Given the description of an element on the screen output the (x, y) to click on. 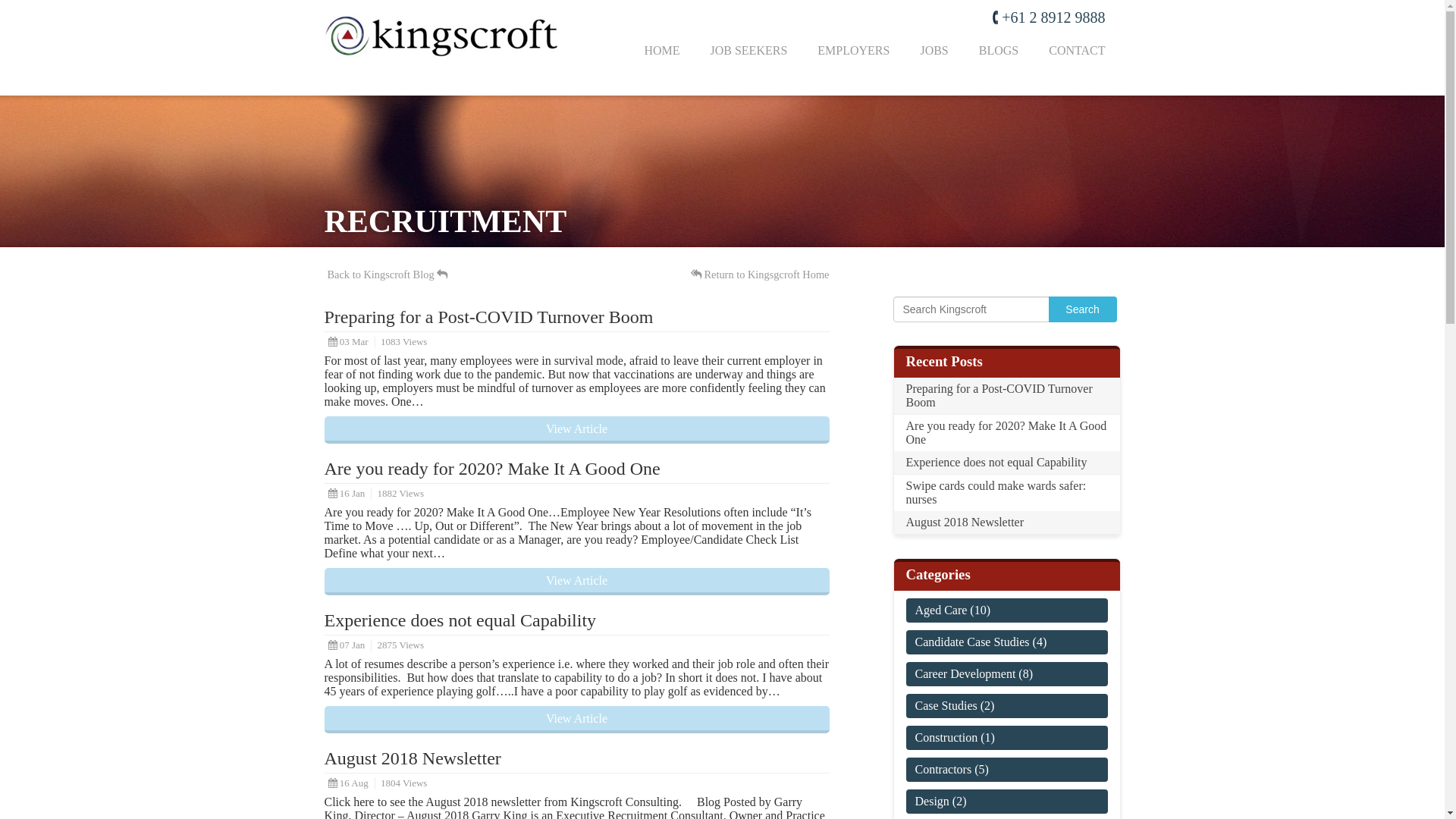
CONTACT Element type: text (1076, 50)
Experience does not equal Capability Element type: text (1006, 462)
Aged Care Element type: text (940, 609)
August 2018 Newsletter Element type: text (1006, 522)
Career Development Element type: text (964, 673)
Preparing for a Post-COVID Turnover Boom Element type: text (488, 316)
Swipe cards could make wards safer: nurses Element type: text (1006, 492)
Design Element type: text (931, 800)
Back to Kingscroft Blog Element type: text (387, 274)
Return to Kingsgcroft Home Element type: text (759, 274)
Preparing for a Post-COVID Turnover Boom Element type: text (1006, 395)
EMPLOYERS Element type: text (853, 50)
View Article Element type: text (576, 719)
Experience does not equal Capability Element type: text (460, 620)
View Article Element type: text (576, 581)
Candidate Case Studies Element type: text (971, 641)
BLOGS Element type: text (998, 50)
View Article Element type: text (576, 429)
JOBS Element type: text (933, 50)
HOME Element type: text (661, 50)
Are you ready for 2020? Make It A Good One Element type: text (492, 468)
Contractors Element type: text (942, 768)
Search Element type: text (1082, 309)
JOB SEEKERS Element type: text (748, 50)
Construction Element type: text (945, 737)
Case Studies Element type: text (945, 705)
August 2018 Newsletter Element type: text (412, 758)
Are you ready for 2020? Make It A Good One Element type: text (1006, 432)
